Given the description of an element on the screen output the (x, y) to click on. 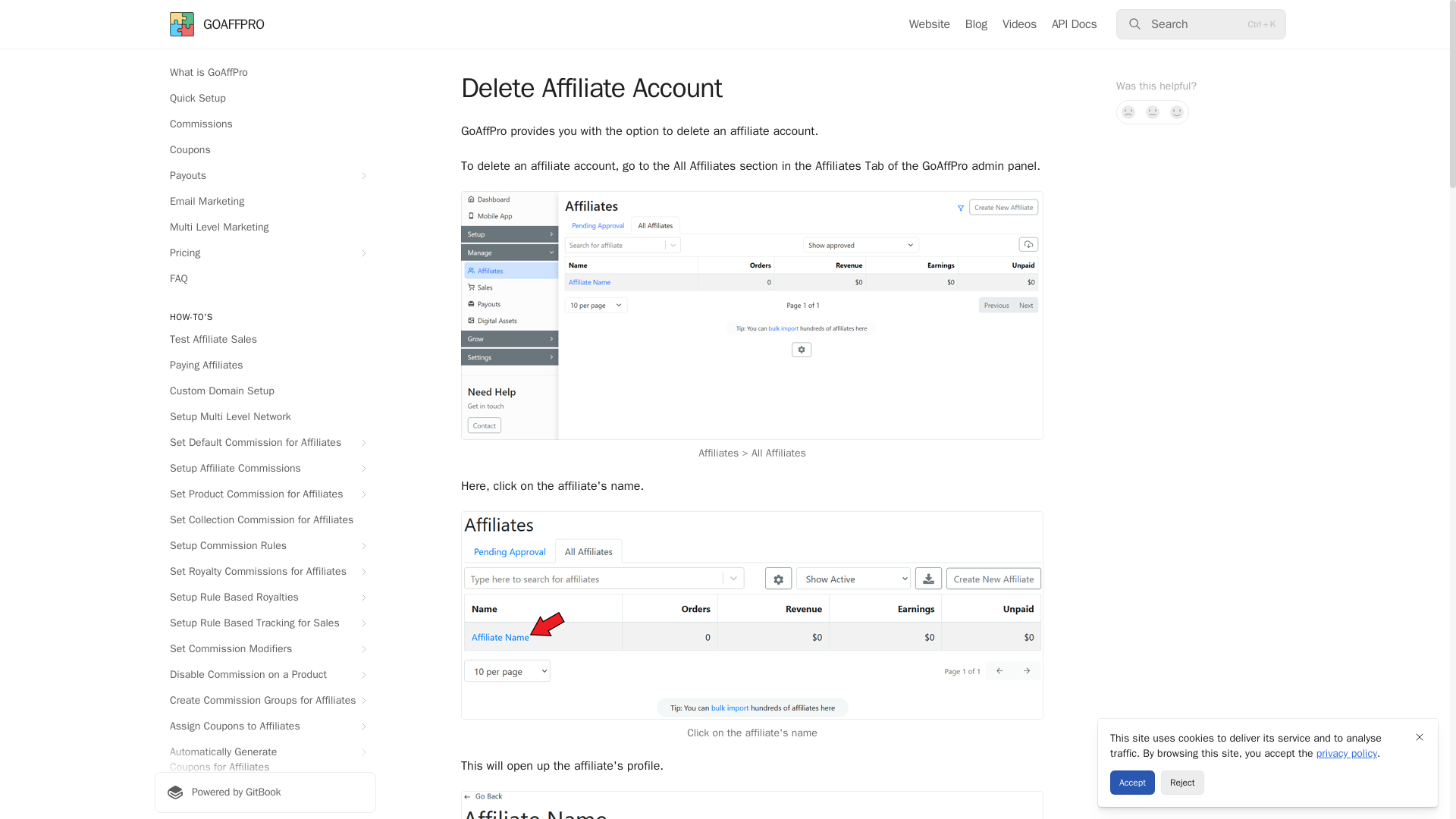
Set Collection Commission for Affiliates (264, 519)
FAQ (264, 278)
What is GoAffPro (264, 72)
Set Default Commission for Affiliates (264, 442)
Test Affiliate Sales (264, 339)
Paying Affiliates (264, 364)
Quick Setup (264, 98)
Multi Level Marketing (264, 227)
No (1128, 111)
Setup Multi Level Network (264, 416)
Yes, it was! (1176, 111)
Email Marketing (264, 201)
Setup Affiliate Commissions (264, 468)
Pricing (264, 252)
Set Royalty Commissions for Affiliates (264, 571)
